Given the description of an element on the screen output the (x, y) to click on. 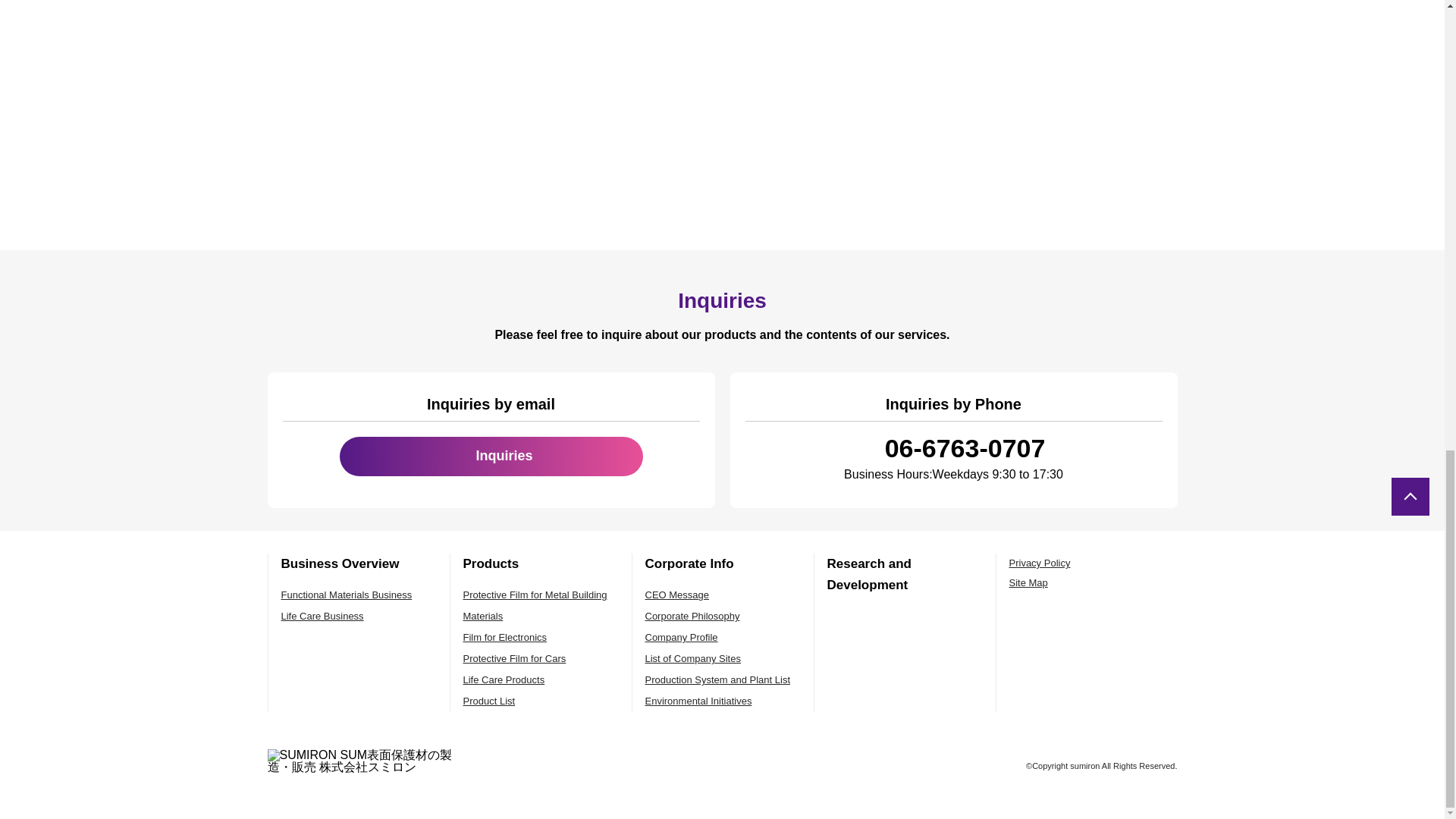
Inquiries (491, 455)
Protective Film for Metal Building Materials (535, 604)
Products (490, 563)
Life Care Business (321, 615)
Film for Electronics (505, 636)
Product List (489, 700)
Life Care Products (503, 679)
Business Overview (339, 563)
Protective Film for Cars (514, 658)
Corporate Info (689, 563)
